Given the description of an element on the screen output the (x, y) to click on. 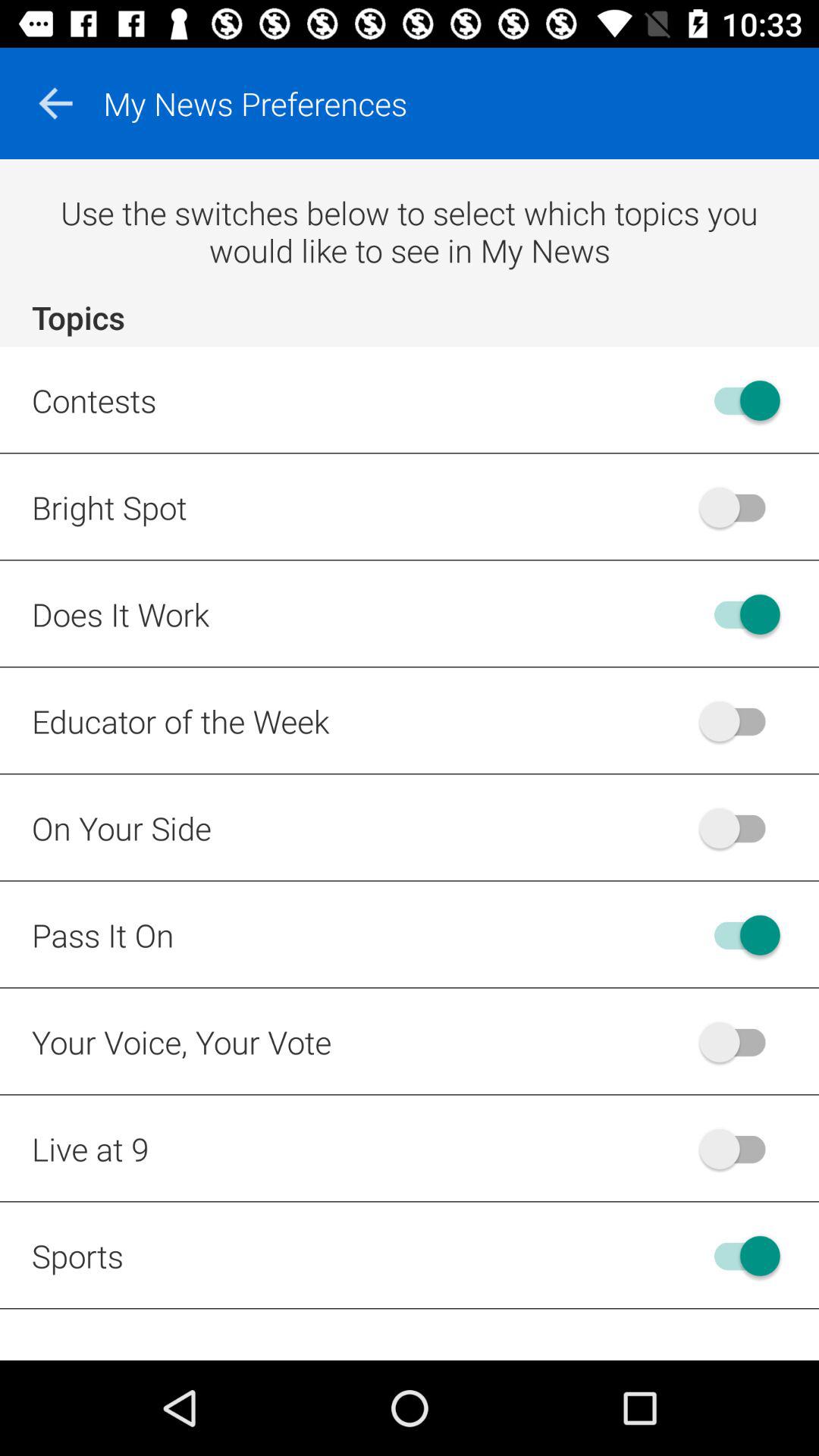
toggle notification option (739, 720)
